Given the description of an element on the screen output the (x, y) to click on. 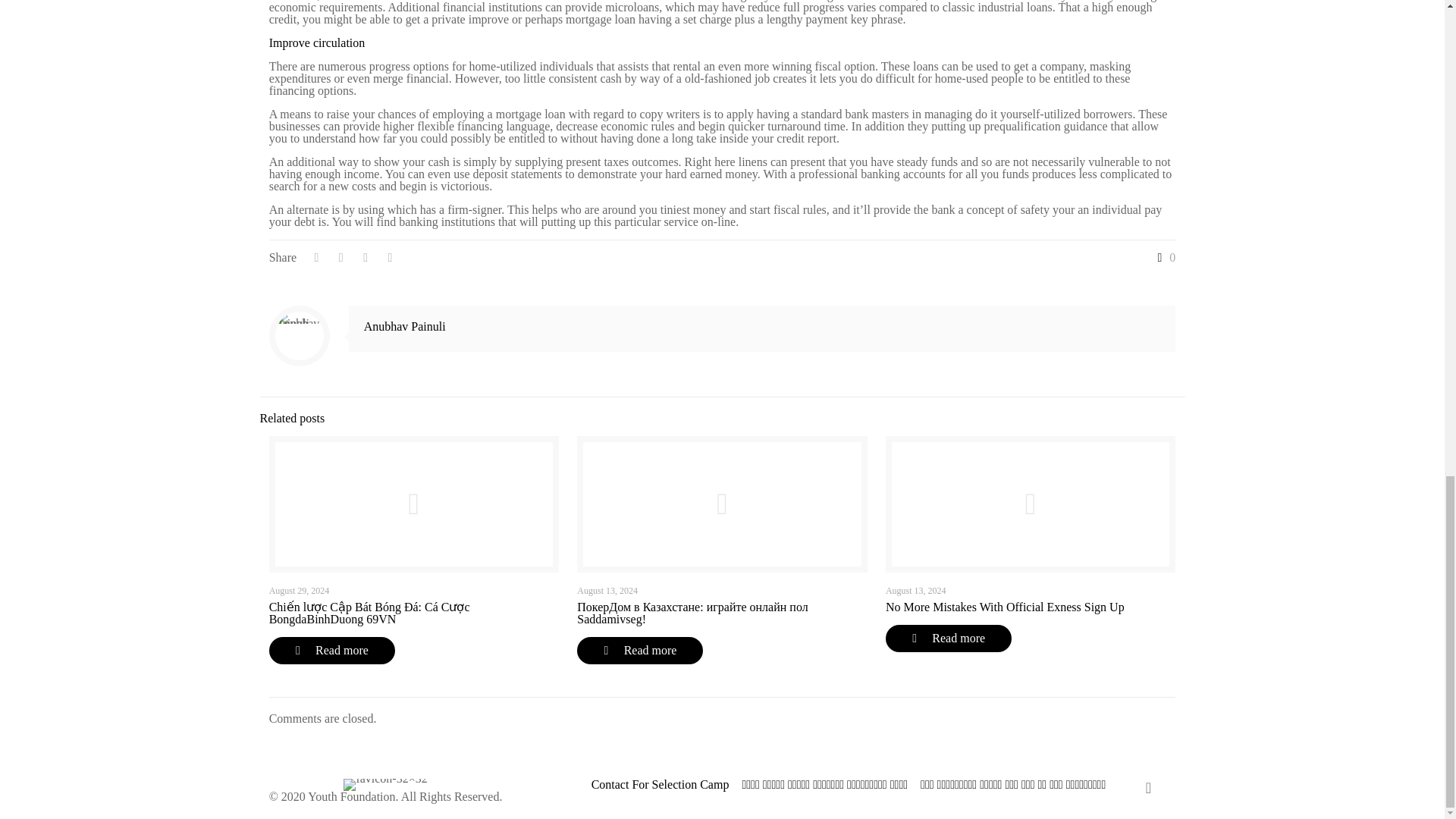
Read more (331, 650)
Anubhav Painuli (404, 326)
0 (1162, 257)
